Given the description of an element on the screen output the (x, y) to click on. 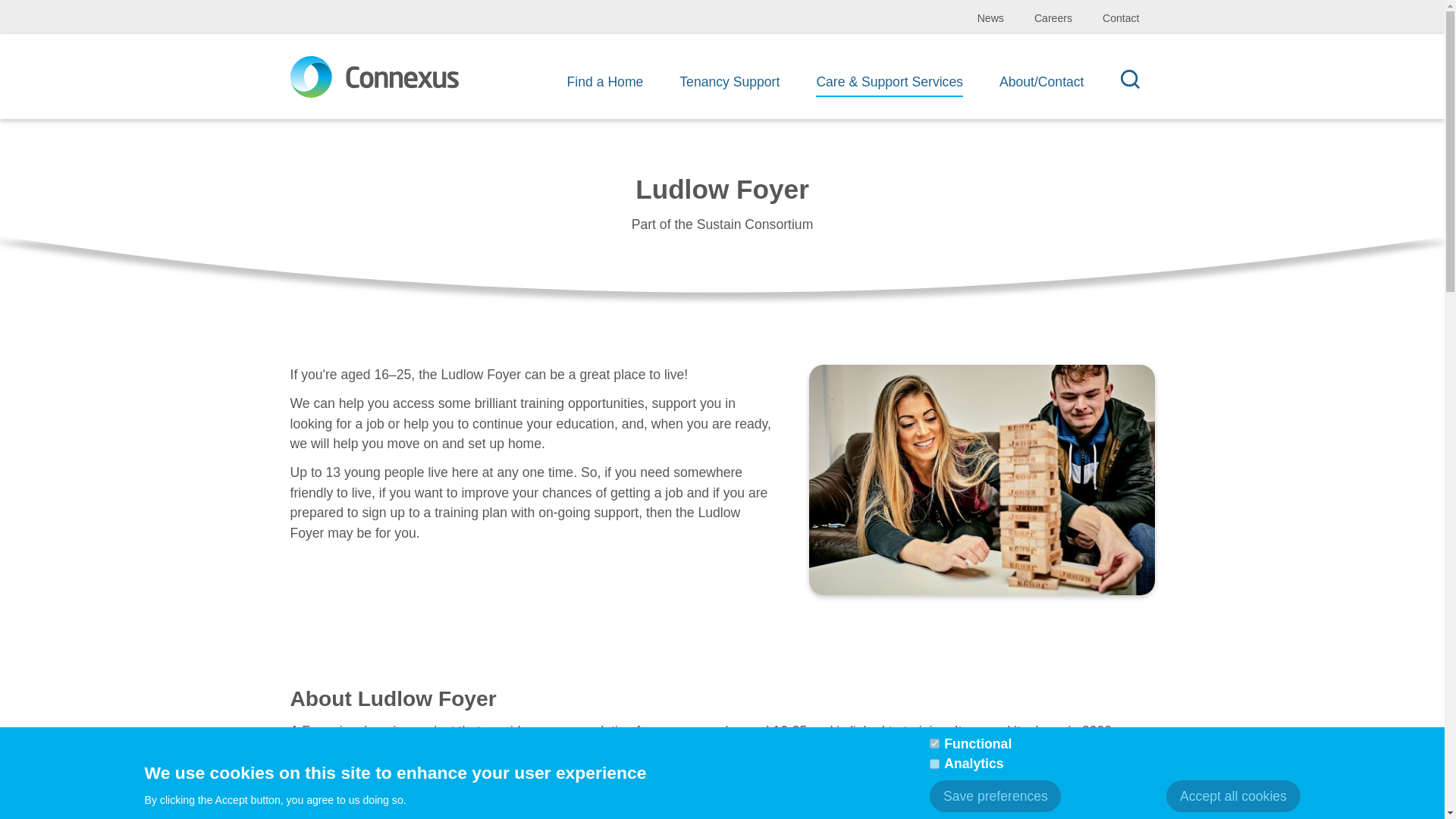
Find a Home (605, 85)
analytics (934, 764)
Tenancy Support (729, 85)
Contact (1120, 19)
functional (934, 743)
News (990, 19)
Careers (1052, 19)
